Given the description of an element on the screen output the (x, y) to click on. 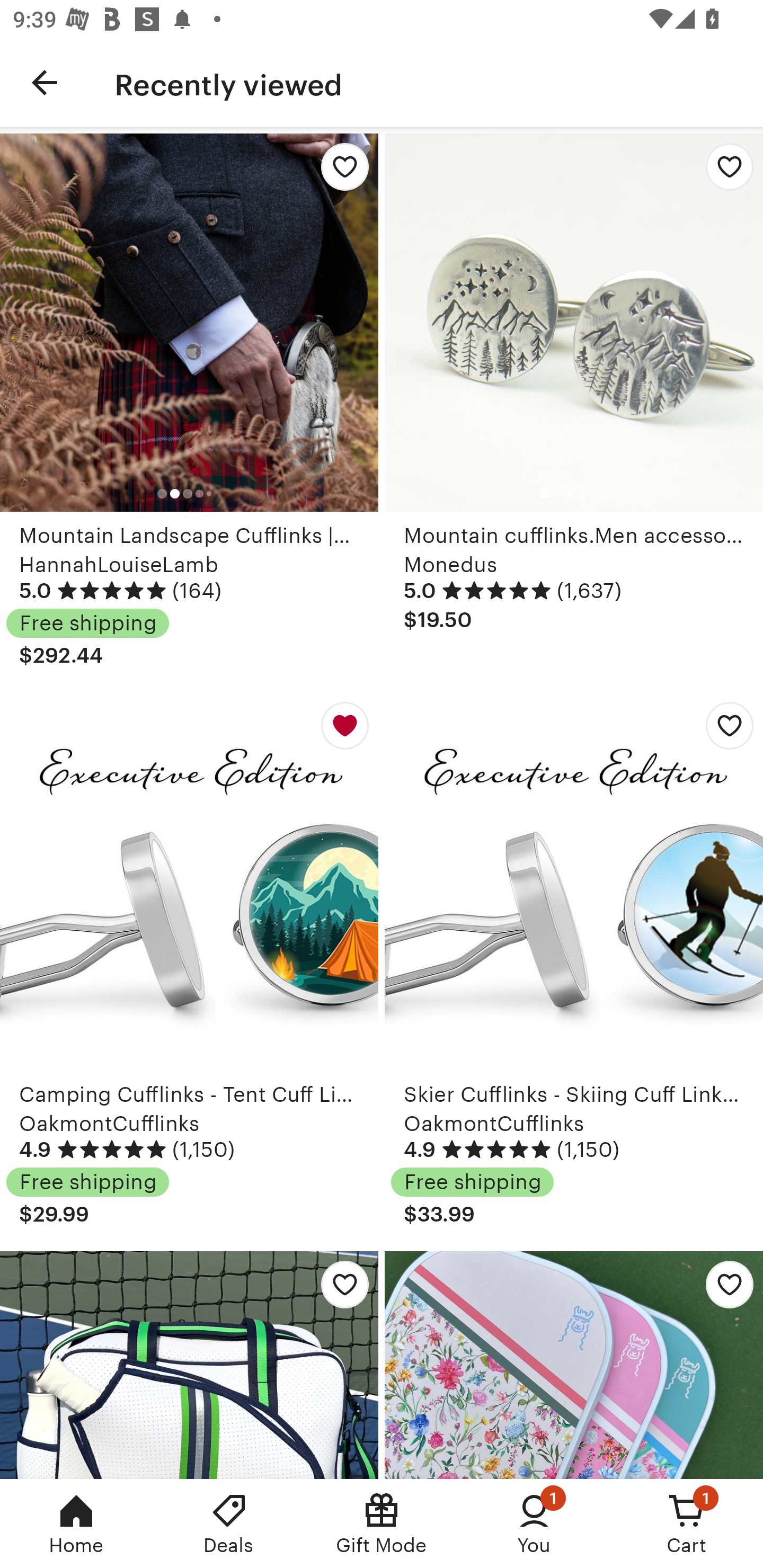
Navigate up (44, 82)
Add Flower Preppy Pickleball Paddle to favorites (724, 1289)
Deals (228, 1523)
Gift Mode (381, 1523)
You, 1 new notification You (533, 1523)
Cart, 1 new notification Cart (686, 1523)
